Given the description of an element on the screen output the (x, y) to click on. 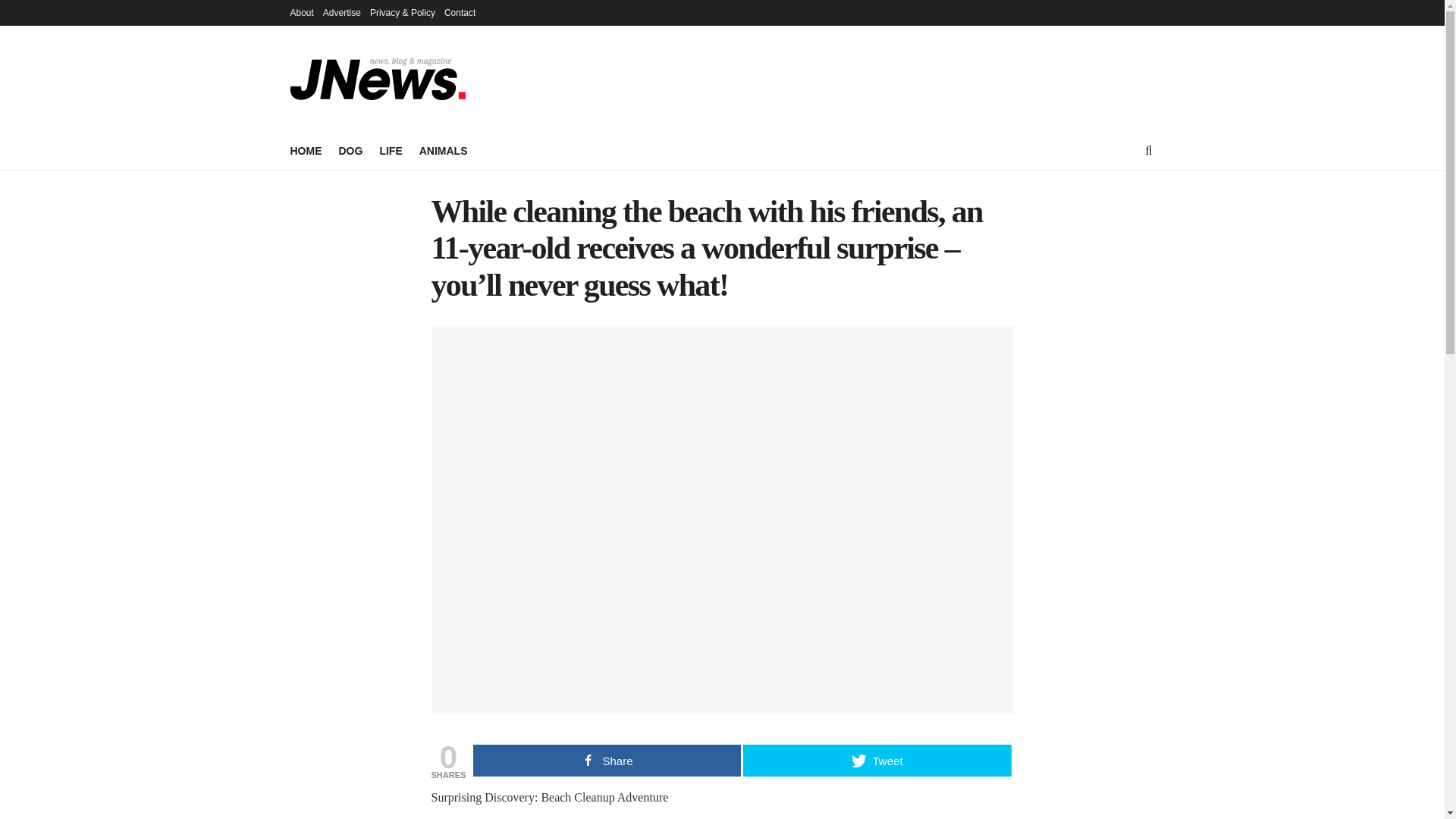
DOG (349, 150)
Tweet (876, 760)
ANIMALS (443, 150)
Share (607, 760)
Contact (460, 12)
Advertise (342, 12)
About (301, 12)
LIFE (389, 150)
HOME (305, 150)
